Given the description of an element on the screen output the (x, y) to click on. 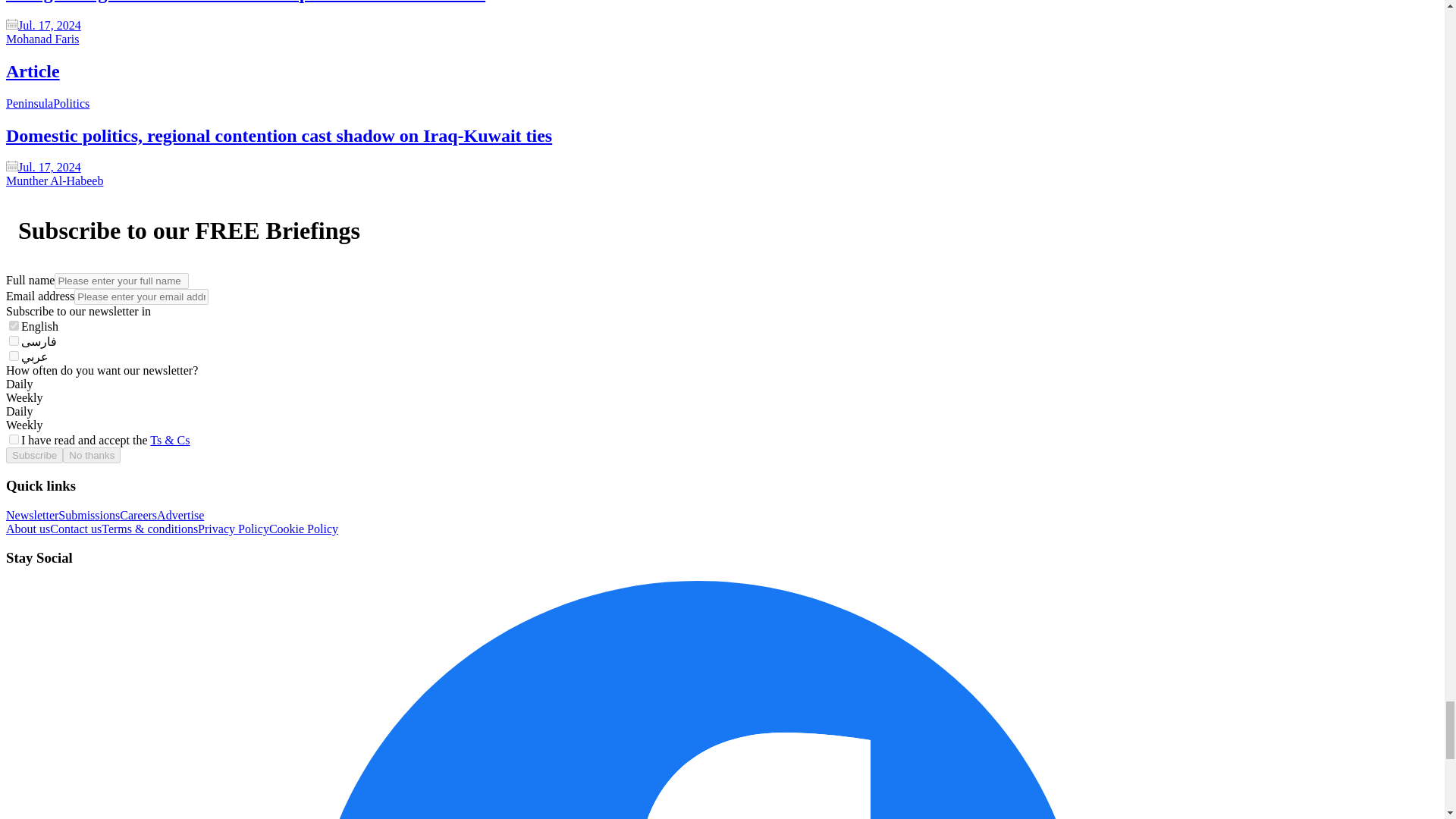
on (13, 325)
on (13, 356)
on (13, 439)
on (13, 340)
